Given the description of an element on the screen output the (x, y) to click on. 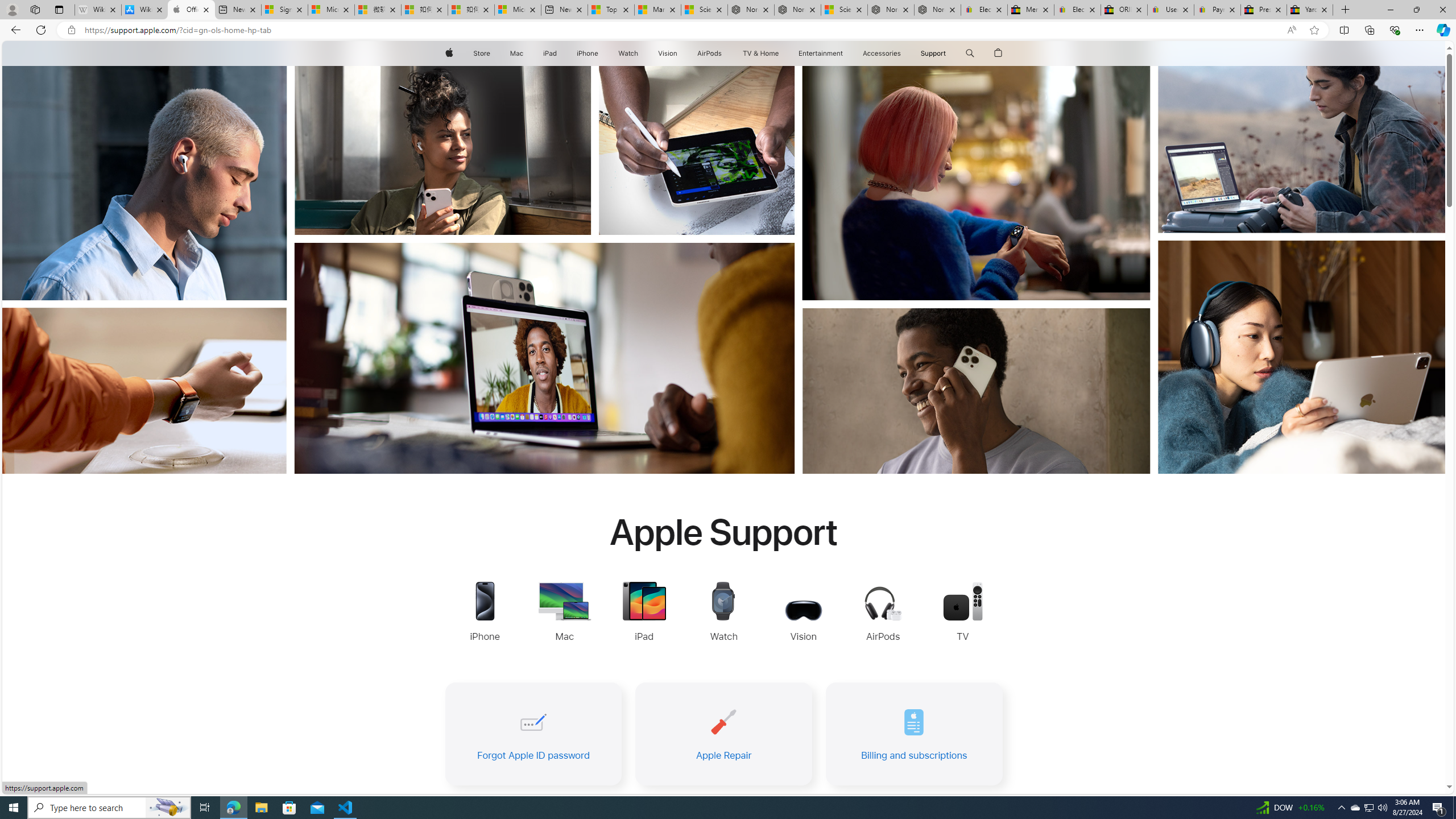
AirPods (709, 53)
Vision (667, 53)
iPhone (587, 53)
Nordace - FAQ (937, 9)
TV Support (962, 612)
Shopping Bag (998, 53)
iPad (550, 53)
Support (932, 53)
